Given the description of an element on the screen output the (x, y) to click on. 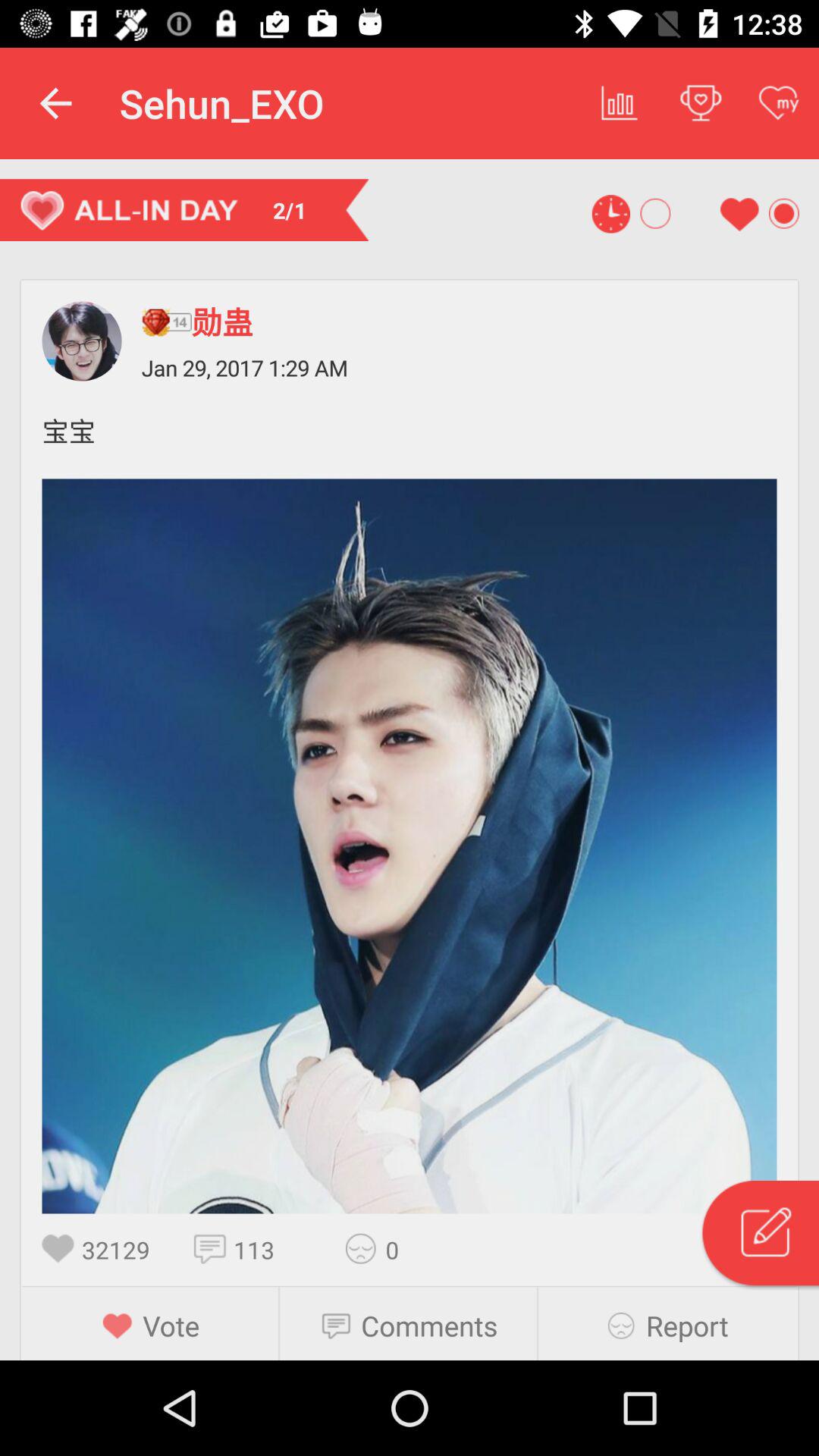
turn off app next to the sehun_exo (55, 103)
